Given the description of an element on the screen output the (x, y) to click on. 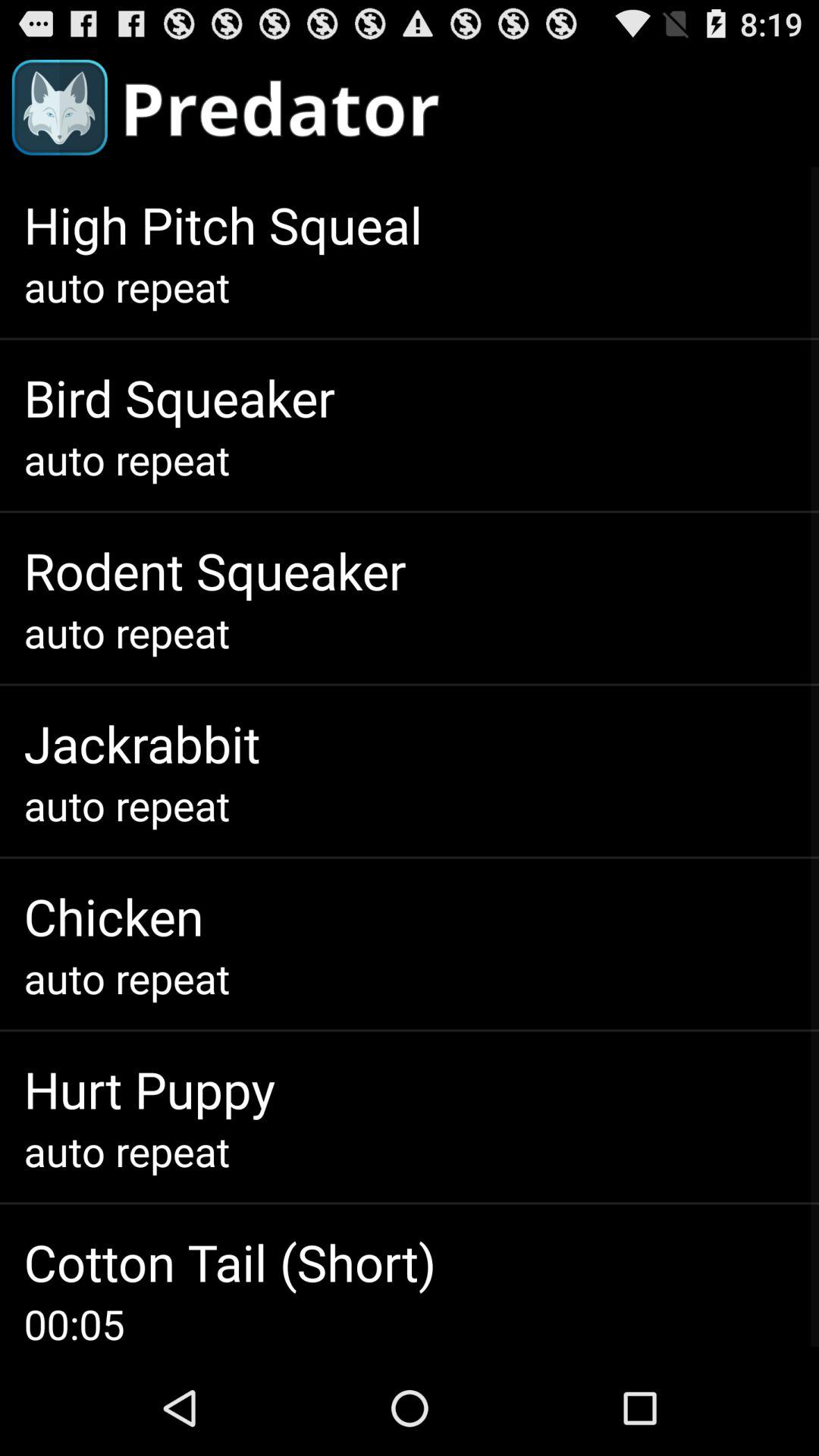
swipe to 00:05 app (73, 1323)
